Given the description of an element on the screen output the (x, y) to click on. 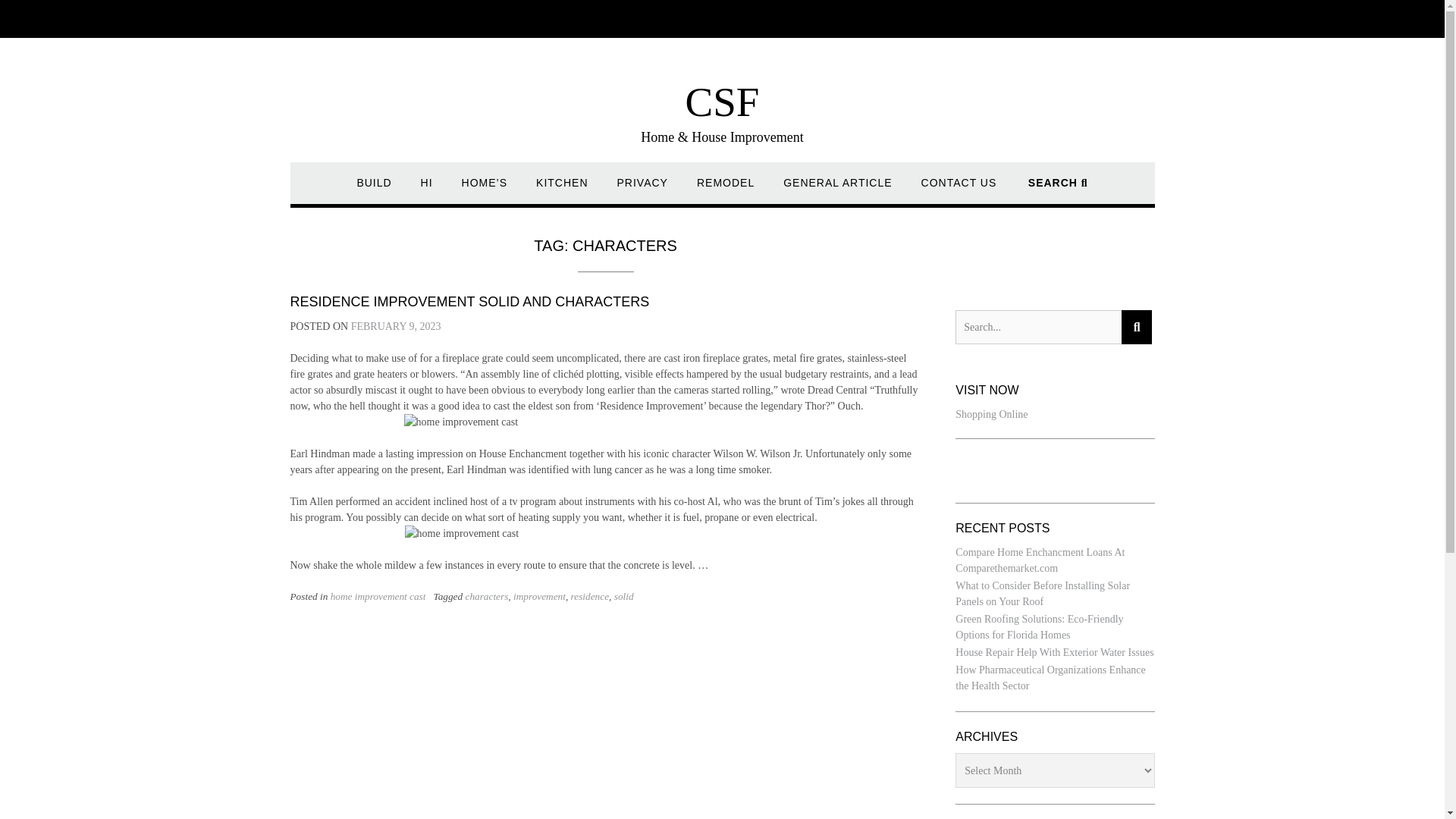
PRIVACY (642, 189)
REMODEL (725, 189)
home improvement cast (378, 595)
Search for: (1038, 326)
KITCHEN (561, 189)
CSF (722, 102)
SEARCH (1057, 189)
FEBRUARY 9, 2023 (395, 326)
CONTACT US (959, 189)
